Given the description of an element on the screen output the (x, y) to click on. 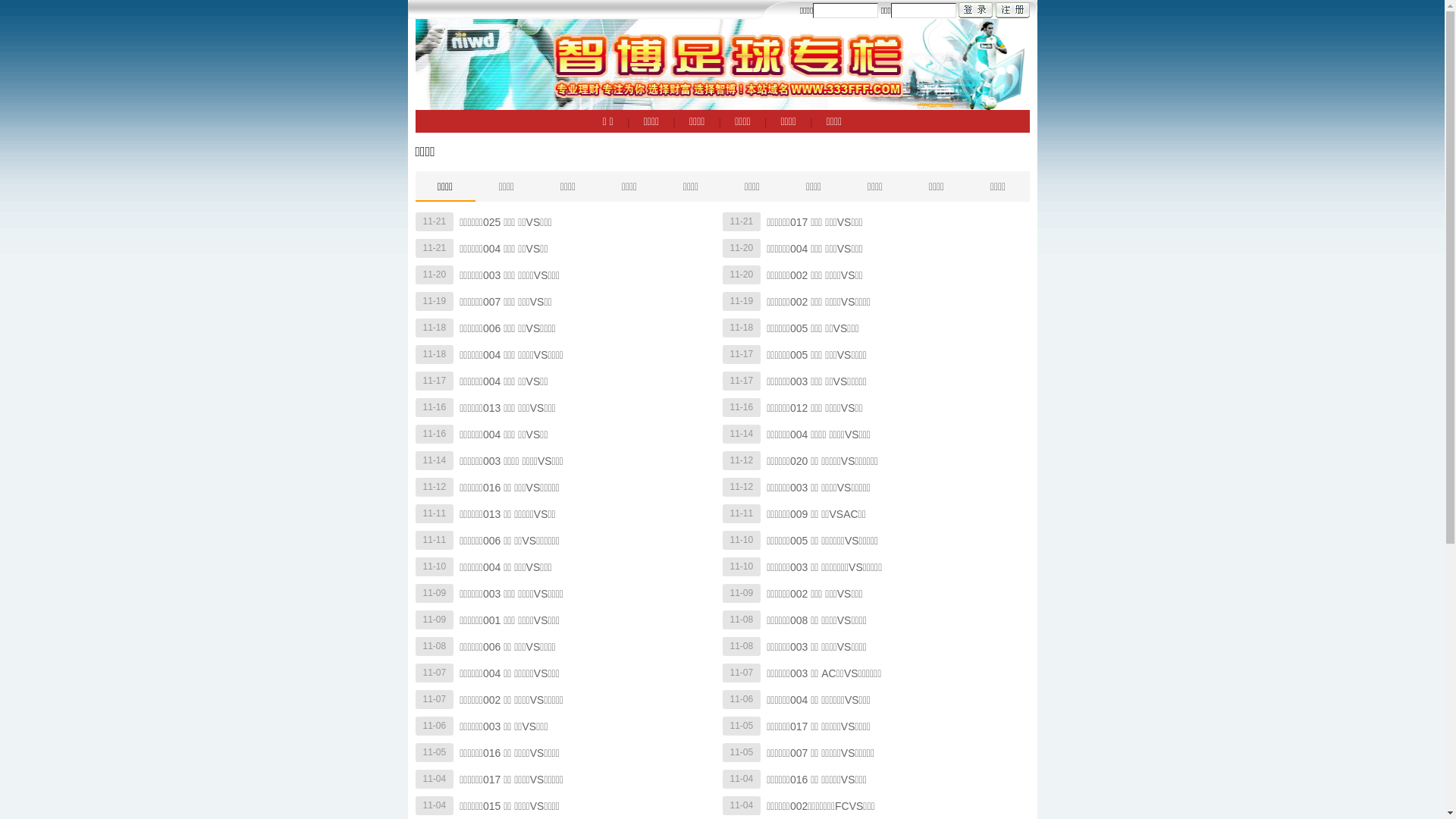
  Element type: text (975, 10)
  Element type: text (1011, 10)
